Given the description of an element on the screen output the (x, y) to click on. 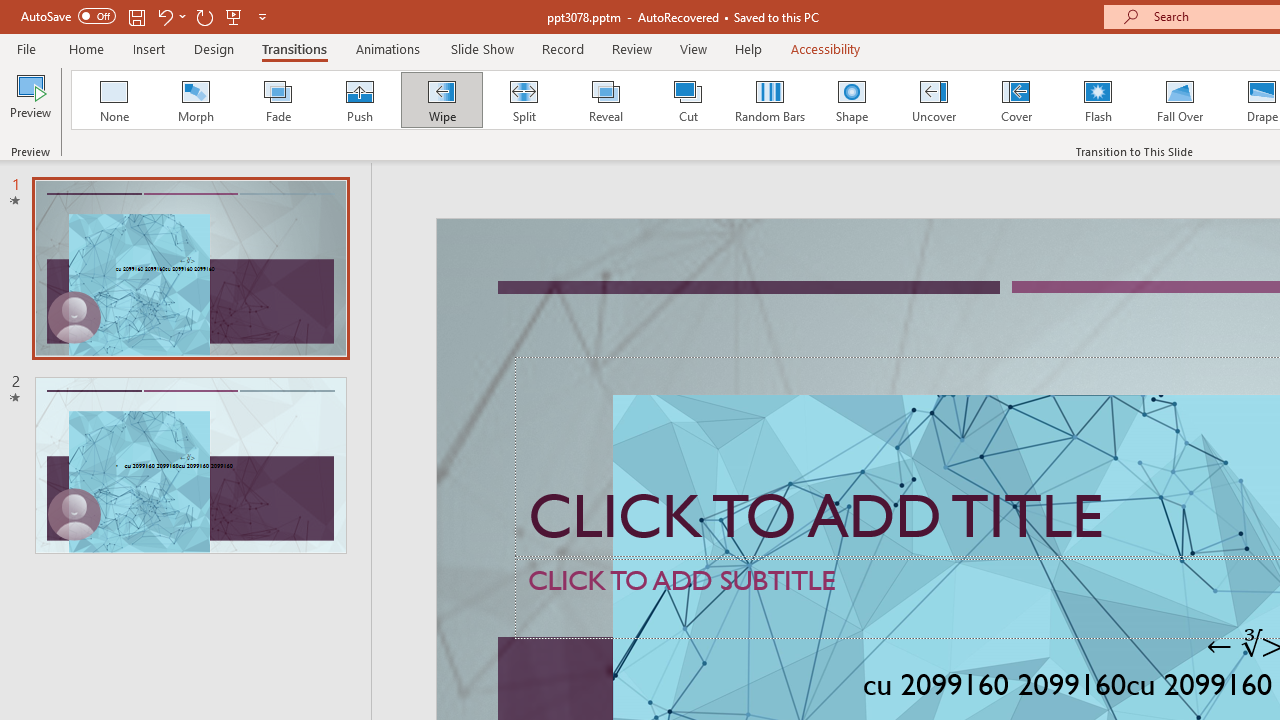
Uncover (934, 100)
Flash (1098, 100)
